Given the description of an element on the screen output the (x, y) to click on. 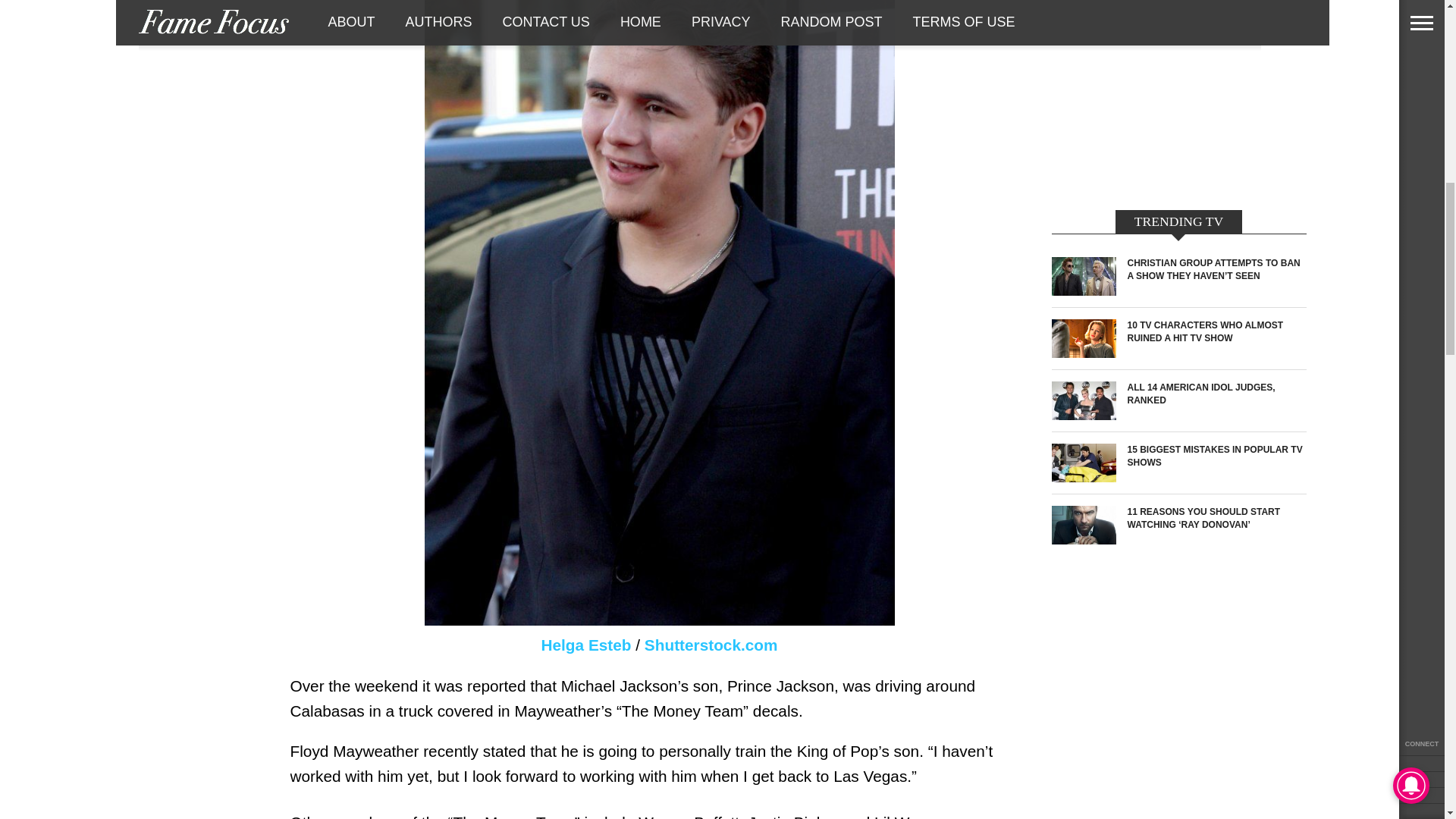
Advertisement (1178, 101)
